Given the description of an element on the screen output the (x, y) to click on. 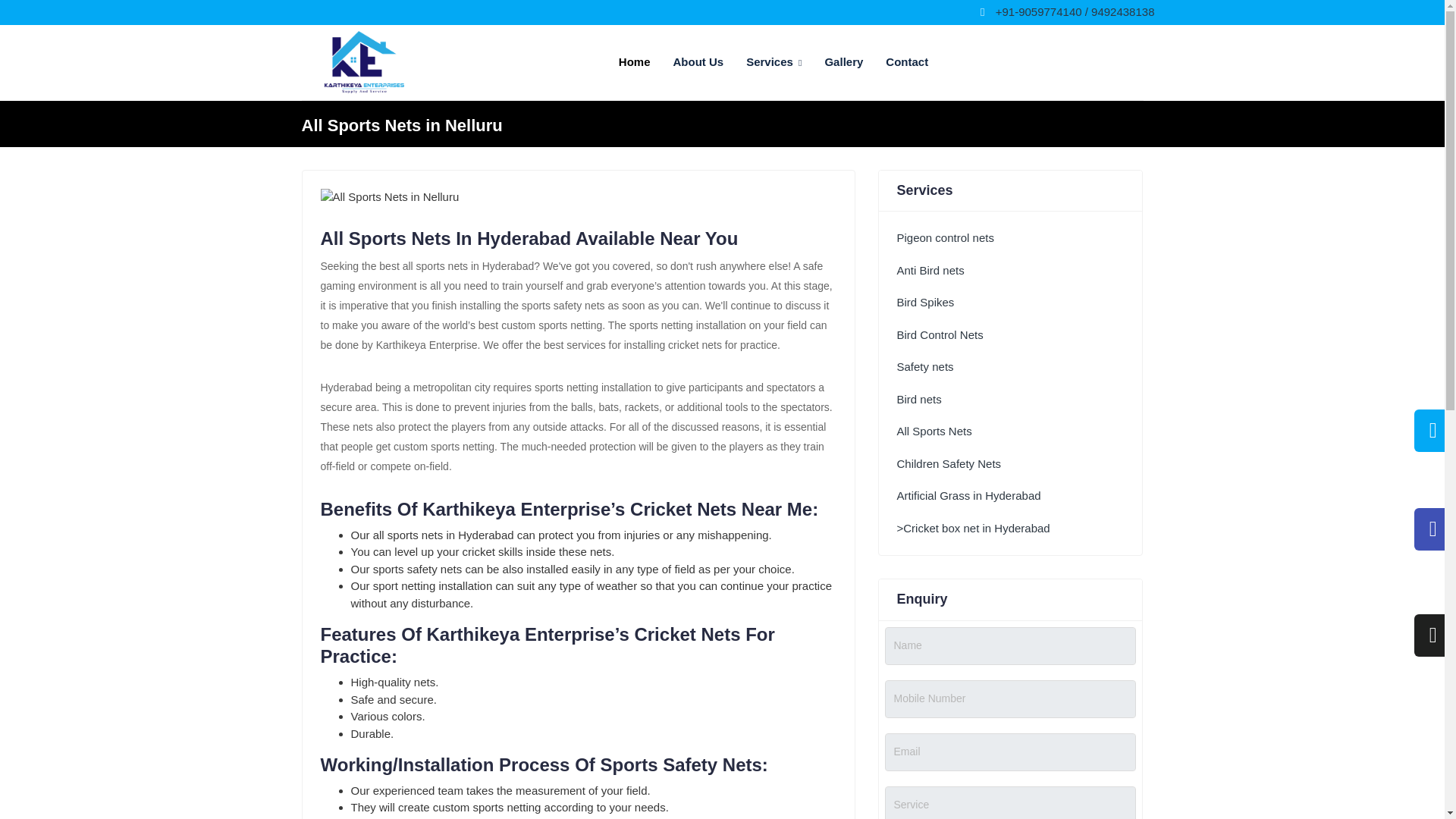
About Us (697, 62)
Services (773, 62)
